Given the description of an element on the screen output the (x, y) to click on. 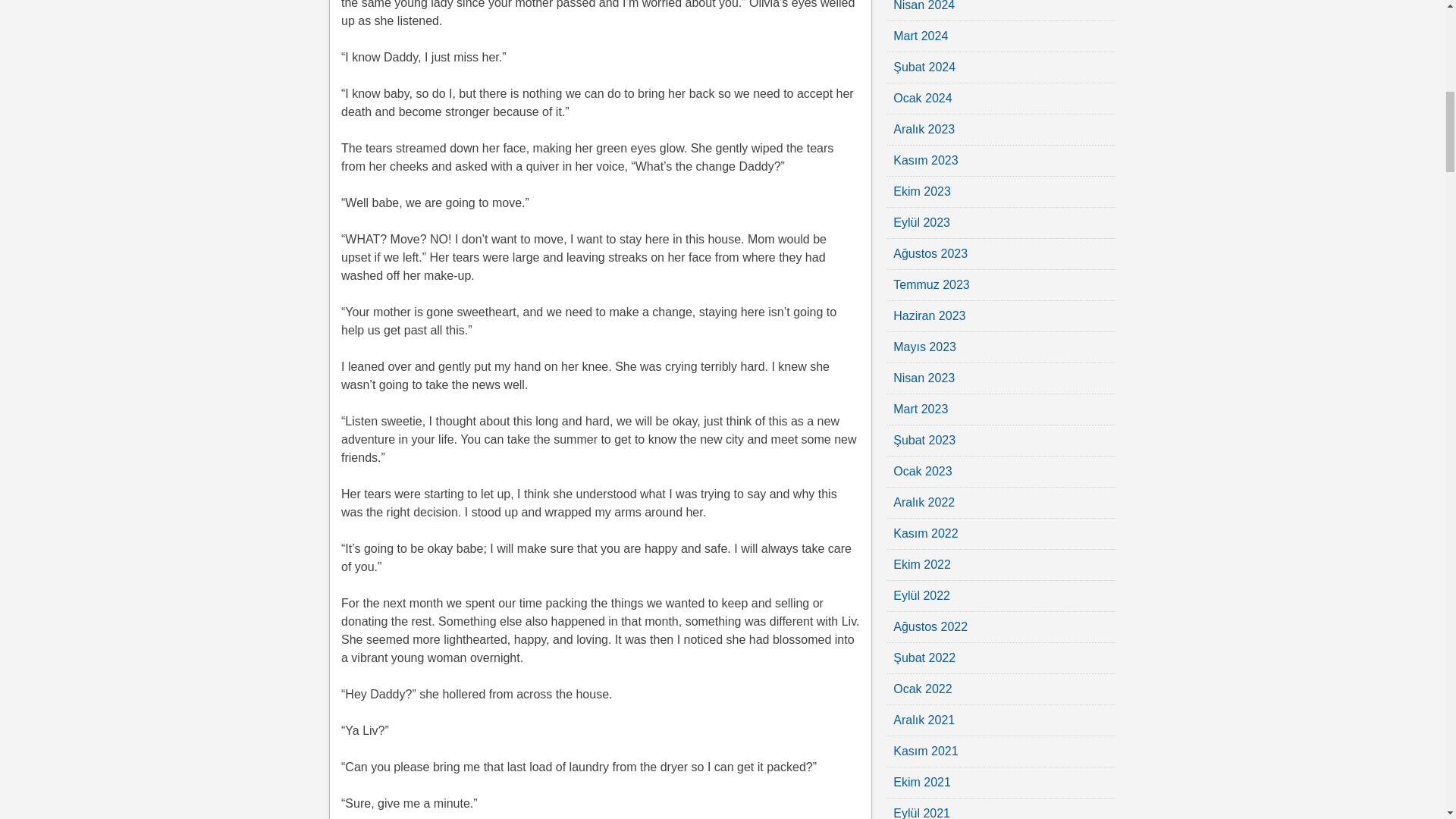
Ekim 2023 (921, 191)
Nisan 2024 (924, 5)
Mart 2024 (920, 35)
Ocak 2024 (922, 97)
